Given the description of an element on the screen output the (x, y) to click on. 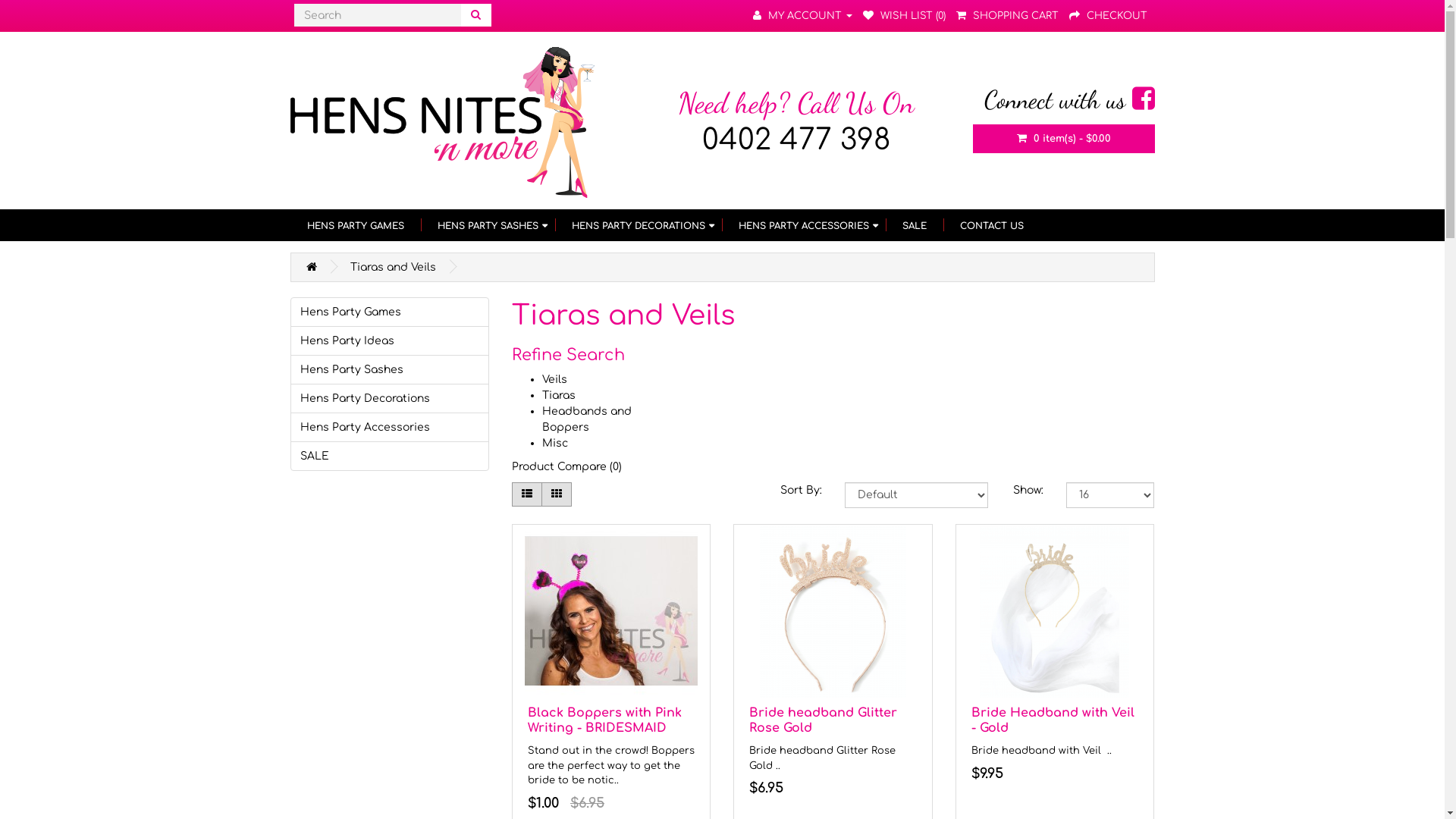
Hens Party Accessories Element type: text (389, 427)
Bride Headband with Veil - Gold Element type: hover (1054, 610)
Veils Element type: text (554, 379)
Headbands and Boppers Element type: text (586, 419)
Hens Party Ideas Element type: text (389, 340)
Bride headband Glitter Rose Gold Element type: hover (832, 610)
MY ACCOUNT Element type: text (801, 15)
CHECKOUT Element type: text (1108, 15)
CONTACT US Element type: text (991, 225)
0402 477 398 Element type: text (796, 140)
Black Boppers with Pink Writing - BRIDESMAID Element type: text (604, 720)
Hens Party Sashes Element type: text (389, 369)
0 item(s) - $0.00 Element type: text (1063, 138)
Bride headband Glitter Rose Gold Element type: text (823, 720)
HENS PARTY DECORATIONS Element type: text (638, 225)
HENS PARTY GAMES Element type: text (354, 225)
Misc Element type: text (554, 442)
HENS PARTY ACCESSORIES Element type: text (803, 225)
Bride Headband with Veil - Gold Element type: text (1052, 720)
HENS PARTY SASHES Element type: text (487, 225)
SALE Element type: text (389, 455)
Hens Nites 'n More Element type: hover (441, 122)
Product Compare (0) Element type: text (566, 466)
Tiaras and Veils Element type: text (393, 267)
SALE Element type: text (914, 225)
WISH LIST (0) Element type: text (903, 15)
Tiaras Element type: text (558, 395)
Hens Party Decorations Element type: text (389, 398)
SHOPPING CART Element type: text (1006, 15)
Hens Party Games Element type: text (389, 311)
Black Boppers with Pink Writing - BRIDESMAID Element type: hover (610, 610)
